Given the description of an element on the screen output the (x, y) to click on. 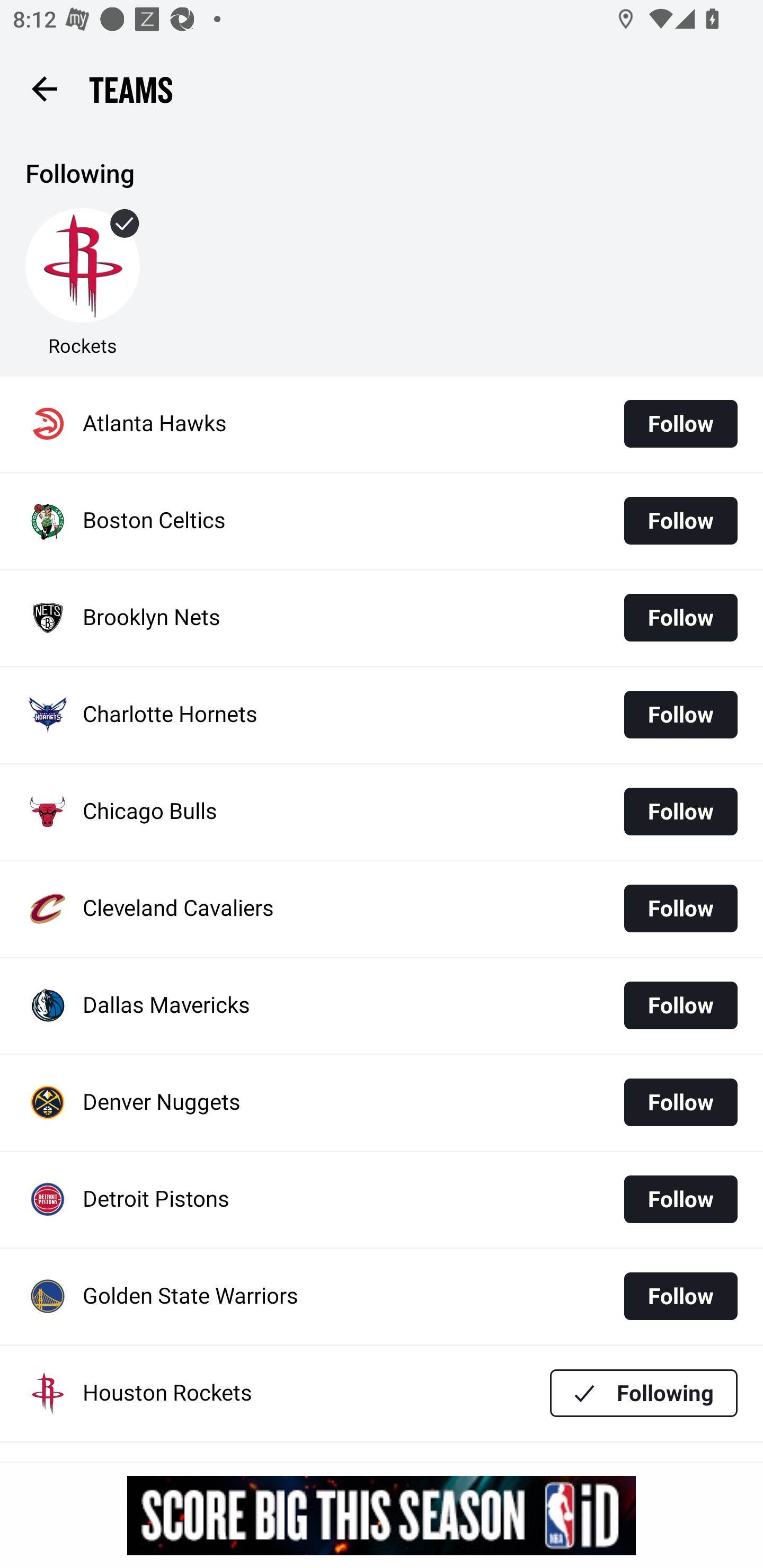
Back button (44, 88)
Atlanta Hawks Follow (381, 423)
Follow (680, 423)
Boston Celtics Follow (381, 521)
Follow (680, 520)
Brooklyn Nets Follow (381, 618)
Follow (680, 617)
Charlotte Hornets Follow (381, 714)
Follow (680, 713)
Chicago Bulls Follow (381, 812)
Follow (680, 811)
Cleveland Cavaliers Follow (381, 908)
Follow (680, 908)
Dallas Mavericks Follow (381, 1005)
Follow (680, 1005)
Denver Nuggets Follow (381, 1102)
Follow (680, 1101)
Detroit Pistons Follow (381, 1200)
Follow (680, 1199)
Golden State Warriors Follow (381, 1296)
Follow (680, 1295)
Houston Rockets Following (381, 1392)
Following (643, 1392)
g5nqqygr7owph (381, 1515)
